Given the description of an element on the screen output the (x, y) to click on. 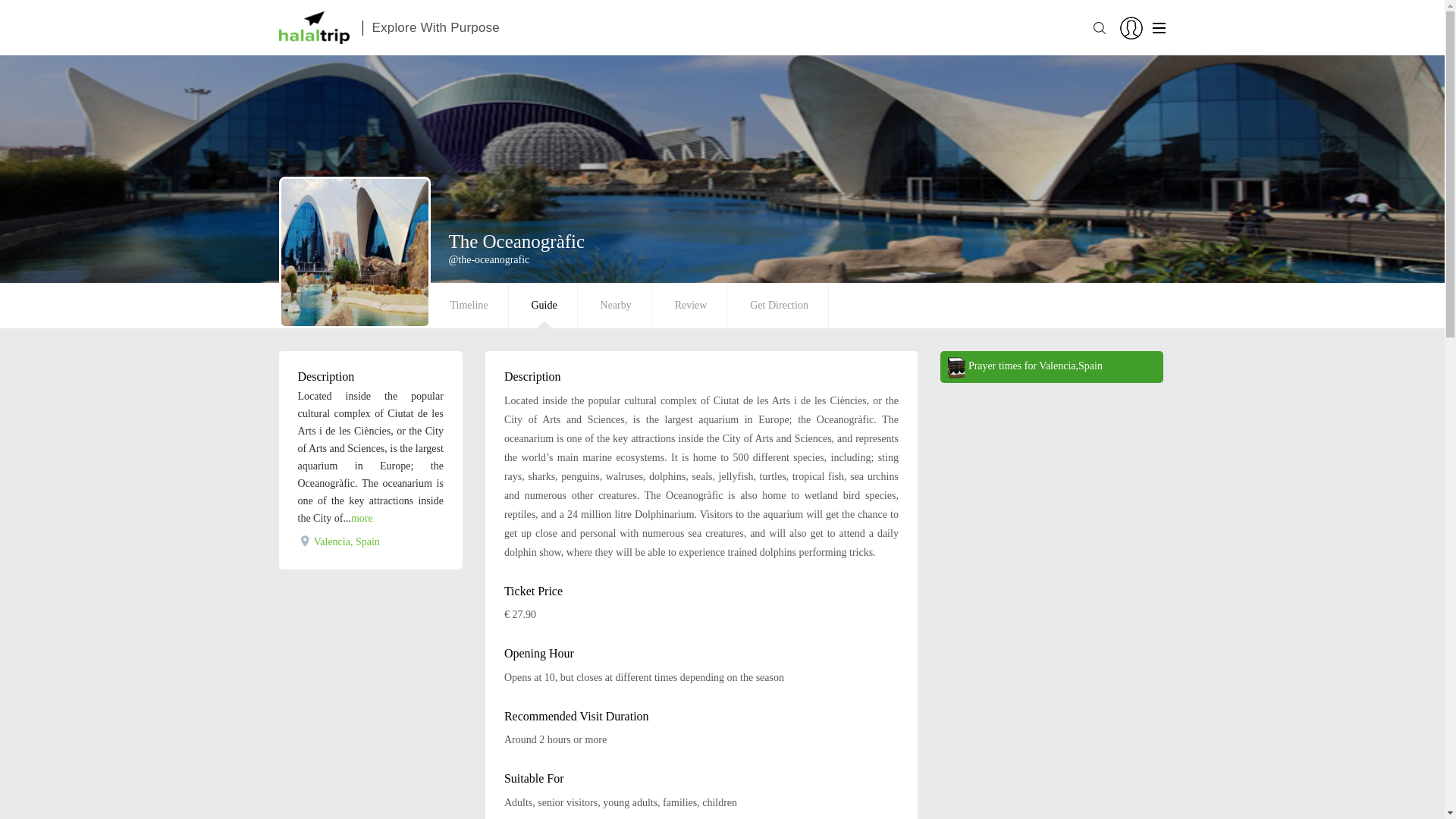
Timeline (469, 305)
